Given the description of an element on the screen output the (x, y) to click on. 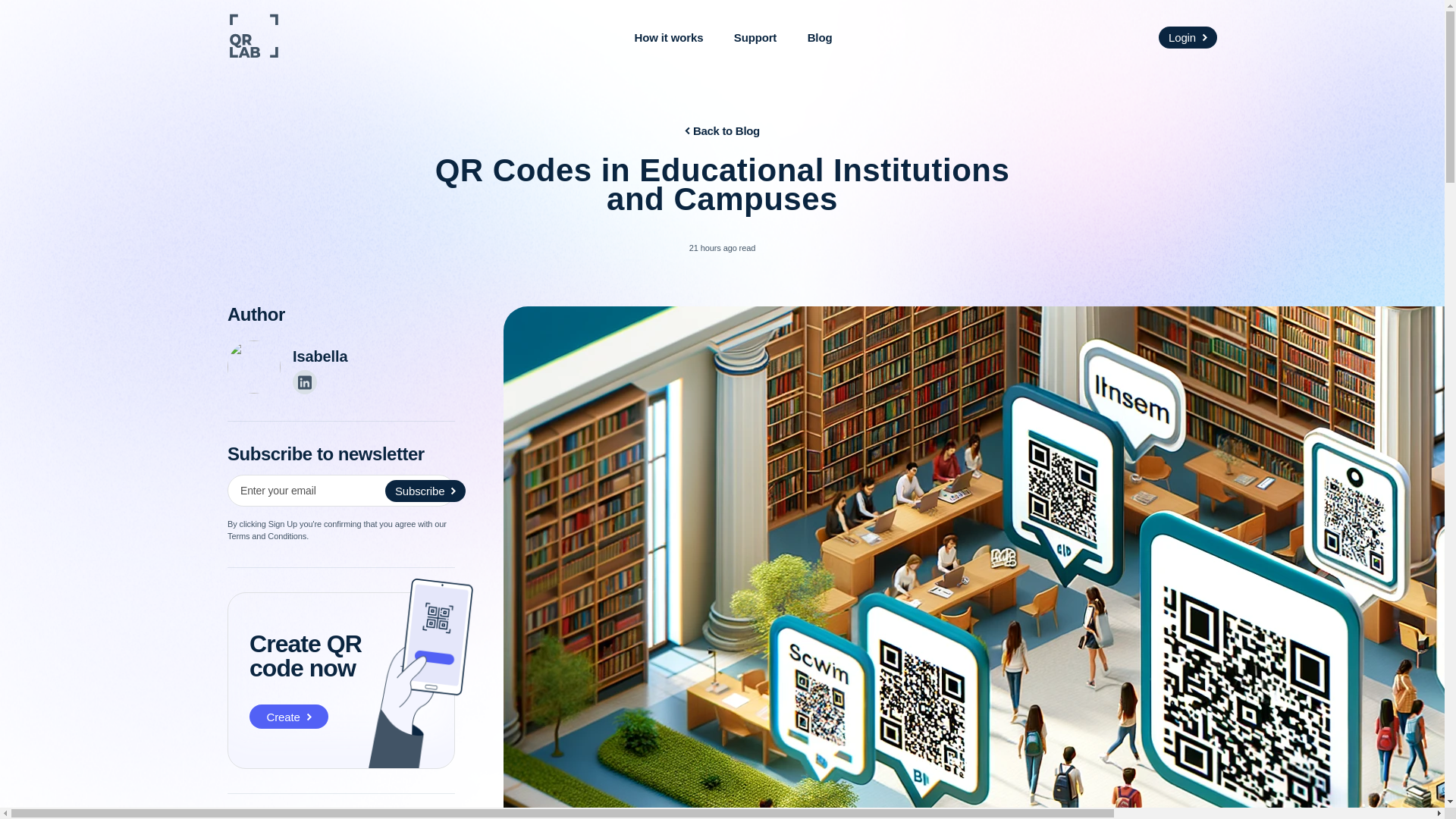
Login (1187, 37)
Create (288, 716)
Support (754, 37)
How it works (668, 37)
Back to Blog (722, 130)
Blog (820, 37)
